Given the description of an element on the screen output the (x, y) to click on. 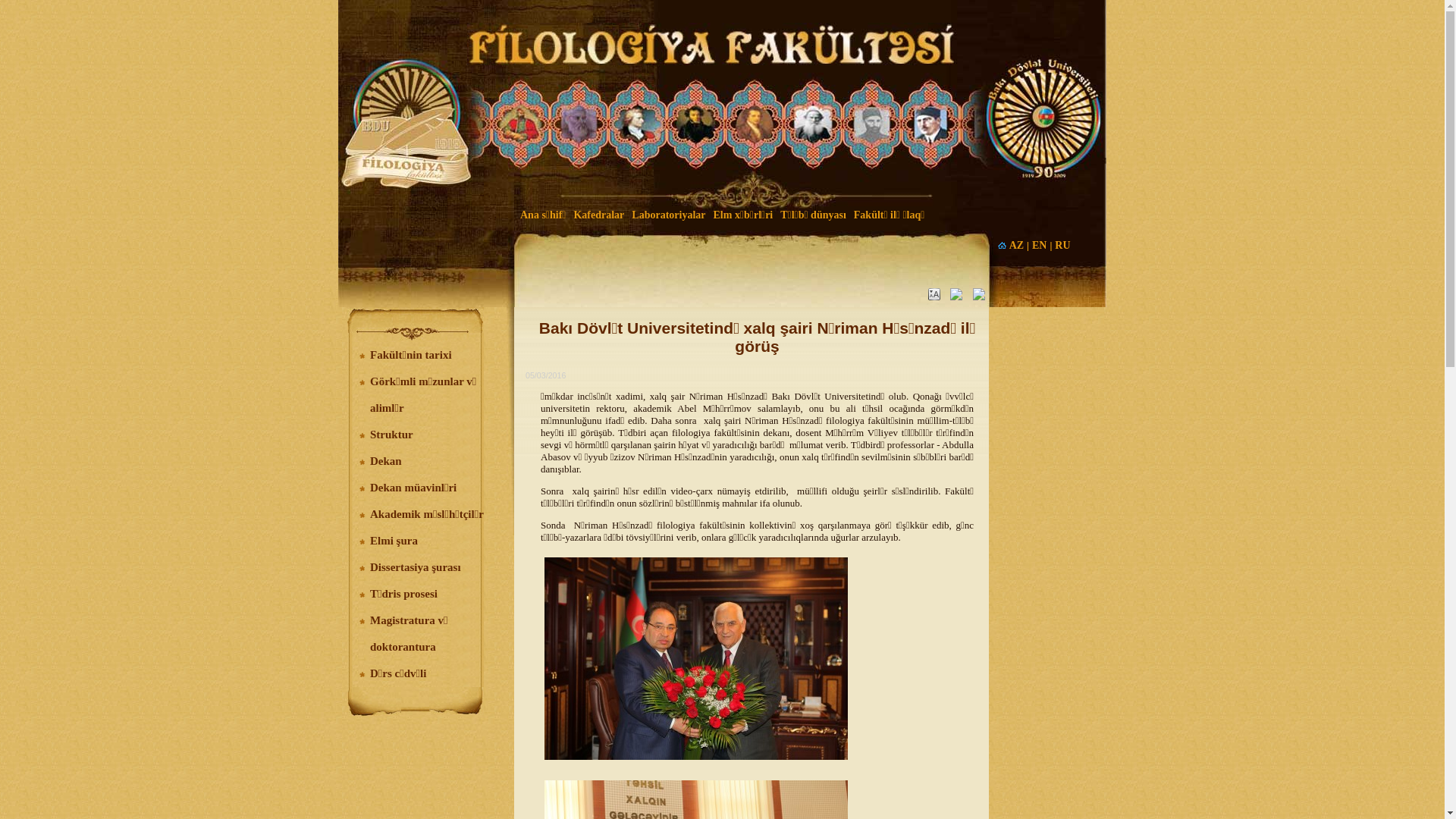
Kafedralar Element type: text (598, 214)
EN Element type: text (1039, 245)
Laboratoriyalar Element type: text (668, 214)
Dekan Element type: text (385, 461)
Struktur Element type: text (391, 434)
AZ Element type: text (1016, 245)
RU Element type: text (1062, 245)
